Given the description of an element on the screen output the (x, y) to click on. 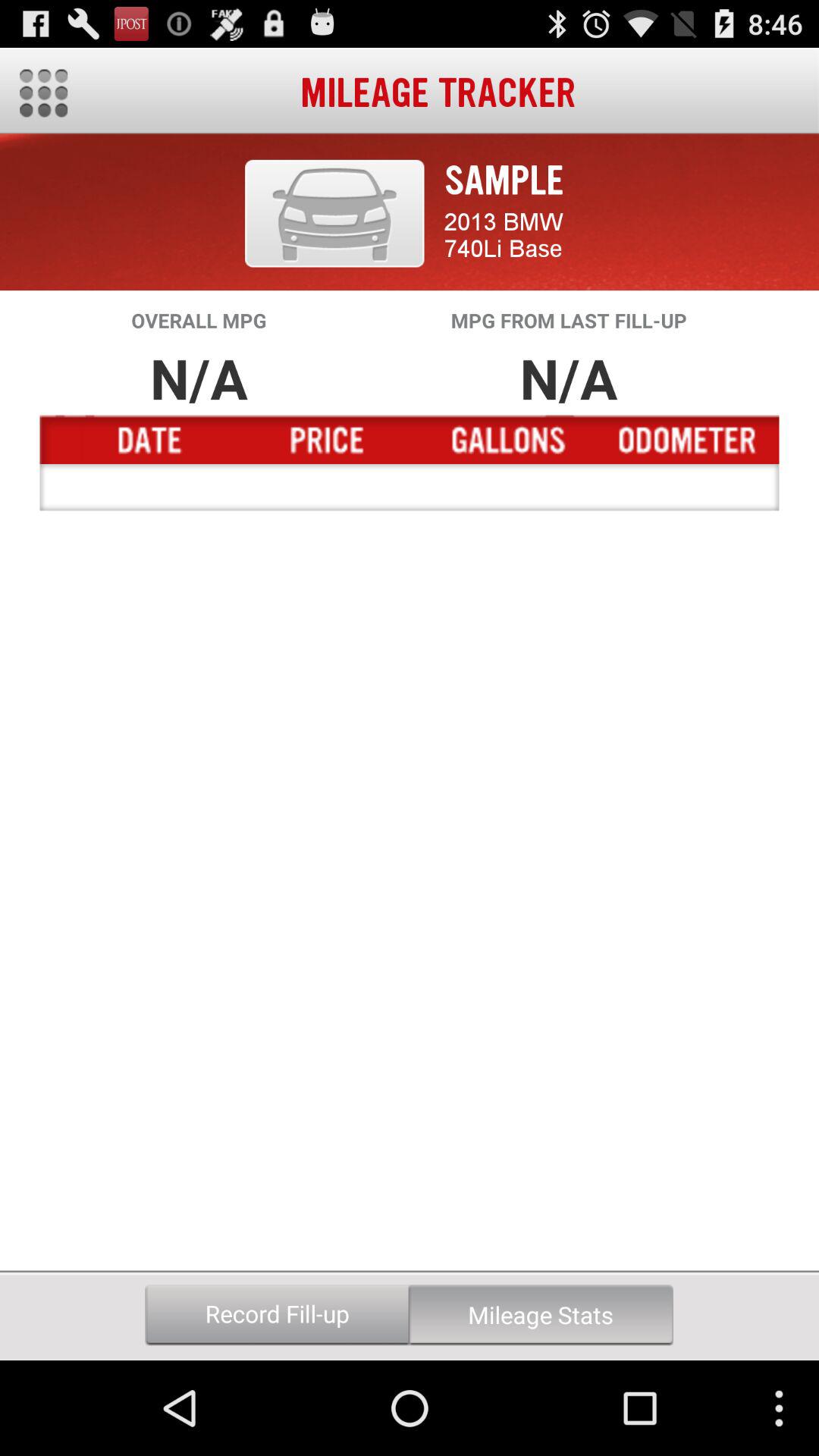
open the icon to the left of the mileage tracker app (43, 93)
